Given the description of an element on the screen output the (x, y) to click on. 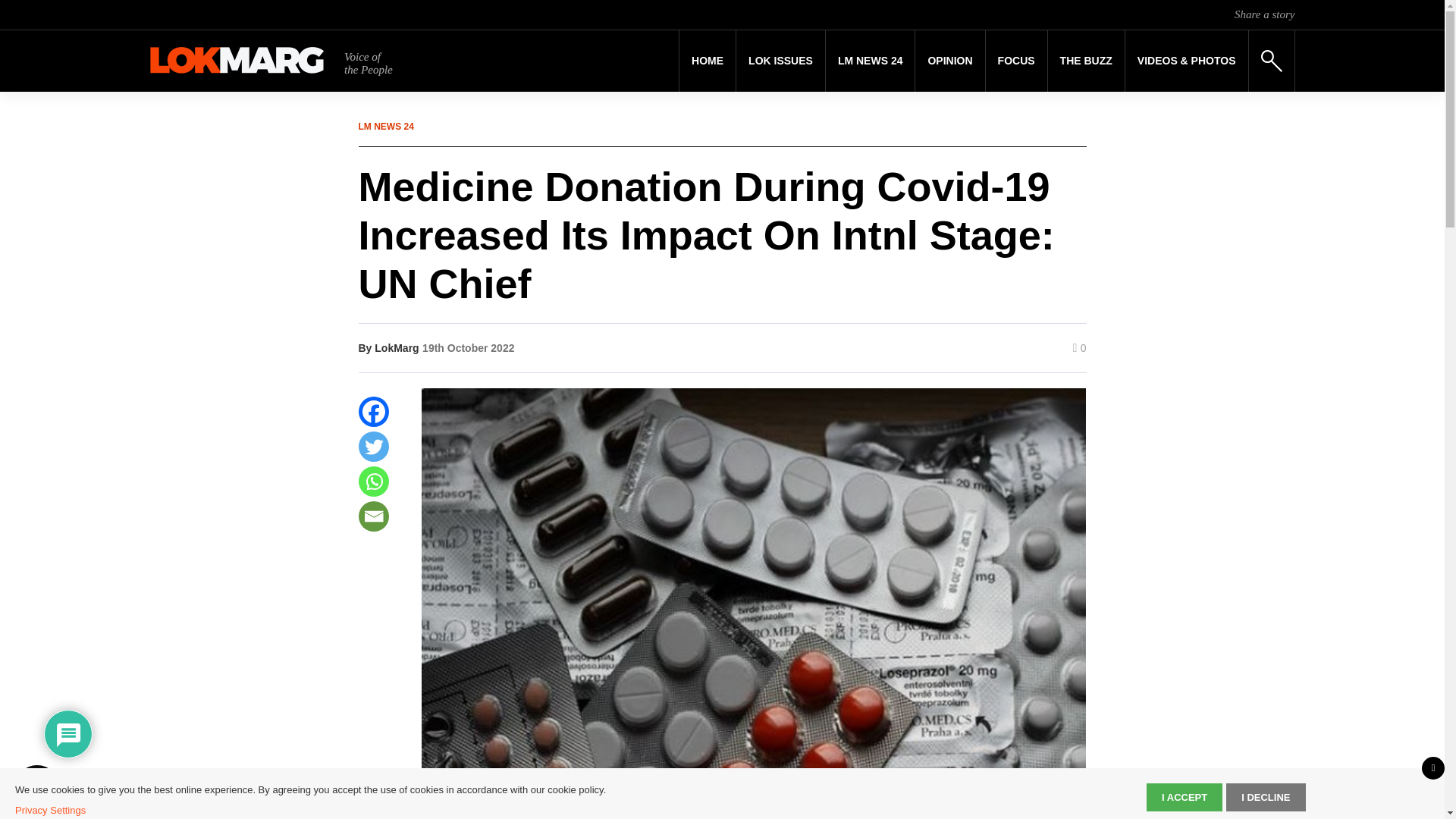
THE BUZZ (1086, 60)
LM NEWS 24 (870, 60)
Home (707, 60)
Facebook (373, 411)
FOCUS (1015, 60)
Lok Issues (780, 60)
LM News 24 (870, 60)
LOK ISSUES (780, 60)
HOME (707, 60)
OPINION (949, 60)
THE BUZZ (1086, 60)
Opinion (949, 60)
Whatsapp (373, 481)
Focus (1015, 60)
Share a story (1264, 14)
